Given the description of an element on the screen output the (x, y) to click on. 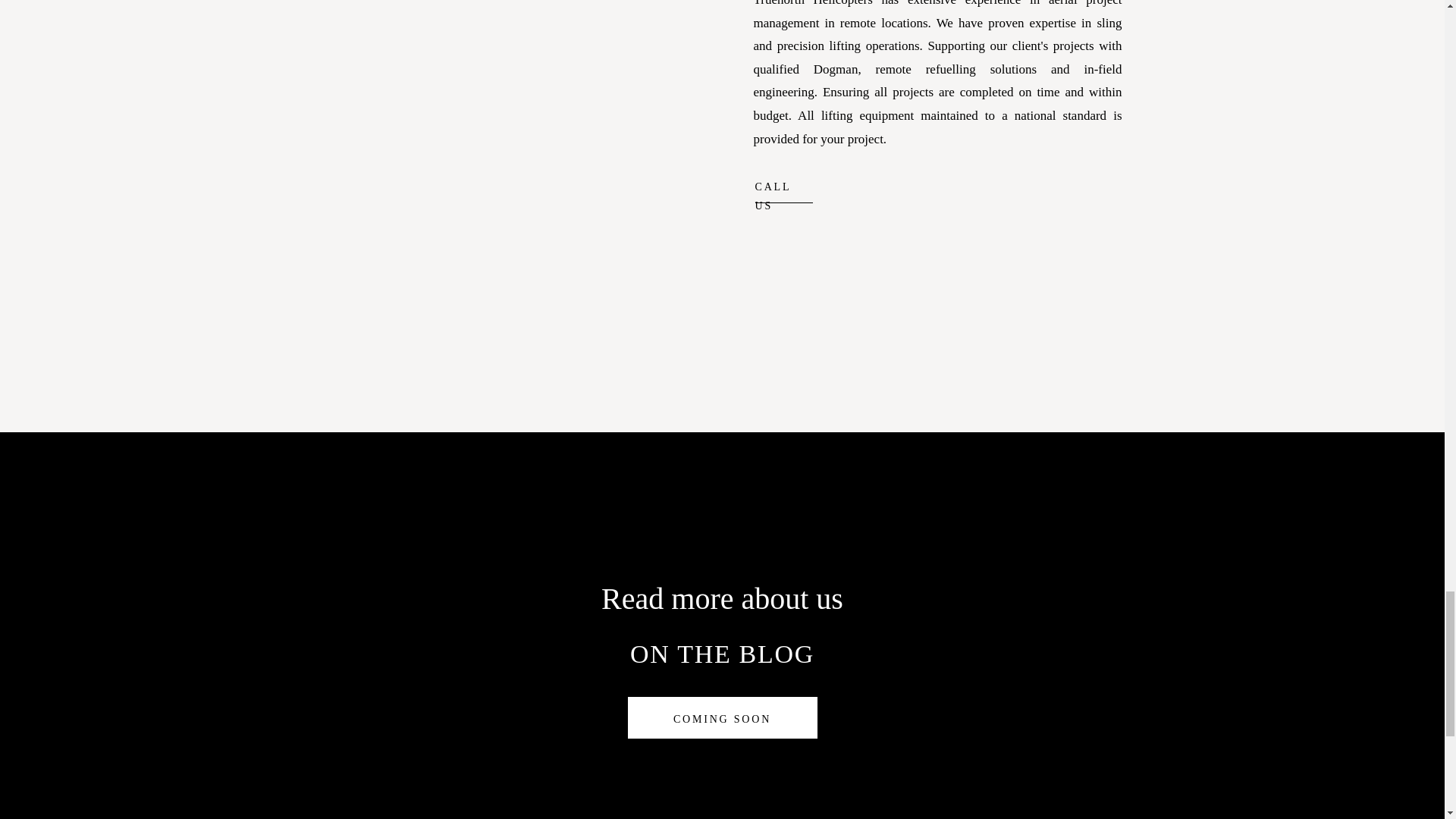
COMING SOON (722, 716)
CALL US (783, 183)
